Given the description of an element on the screen output the (x, y) to click on. 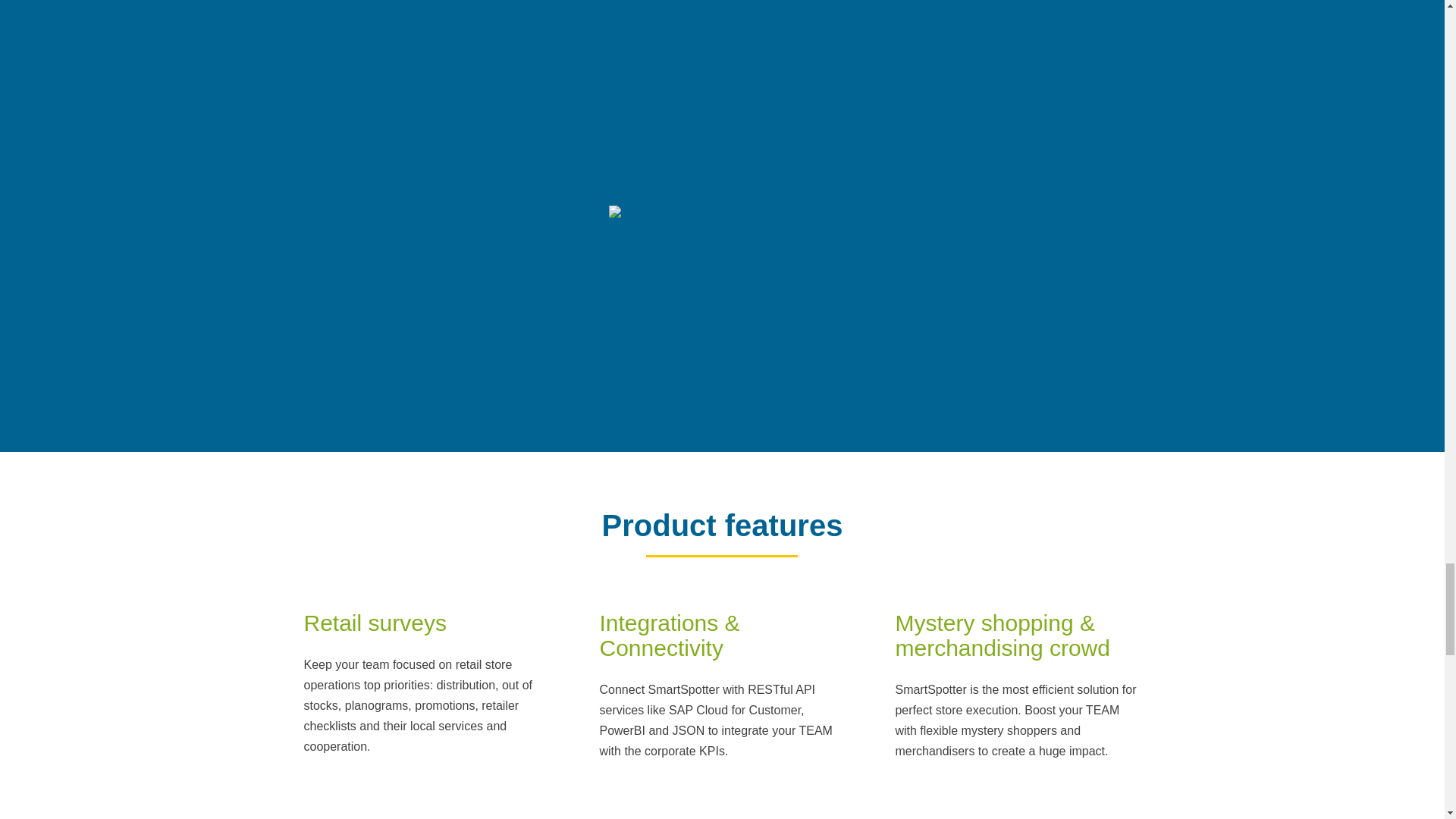
Activision (931, 83)
Activision (721, 319)
Activision (513, 83)
